Given the description of an element on the screen output the (x, y) to click on. 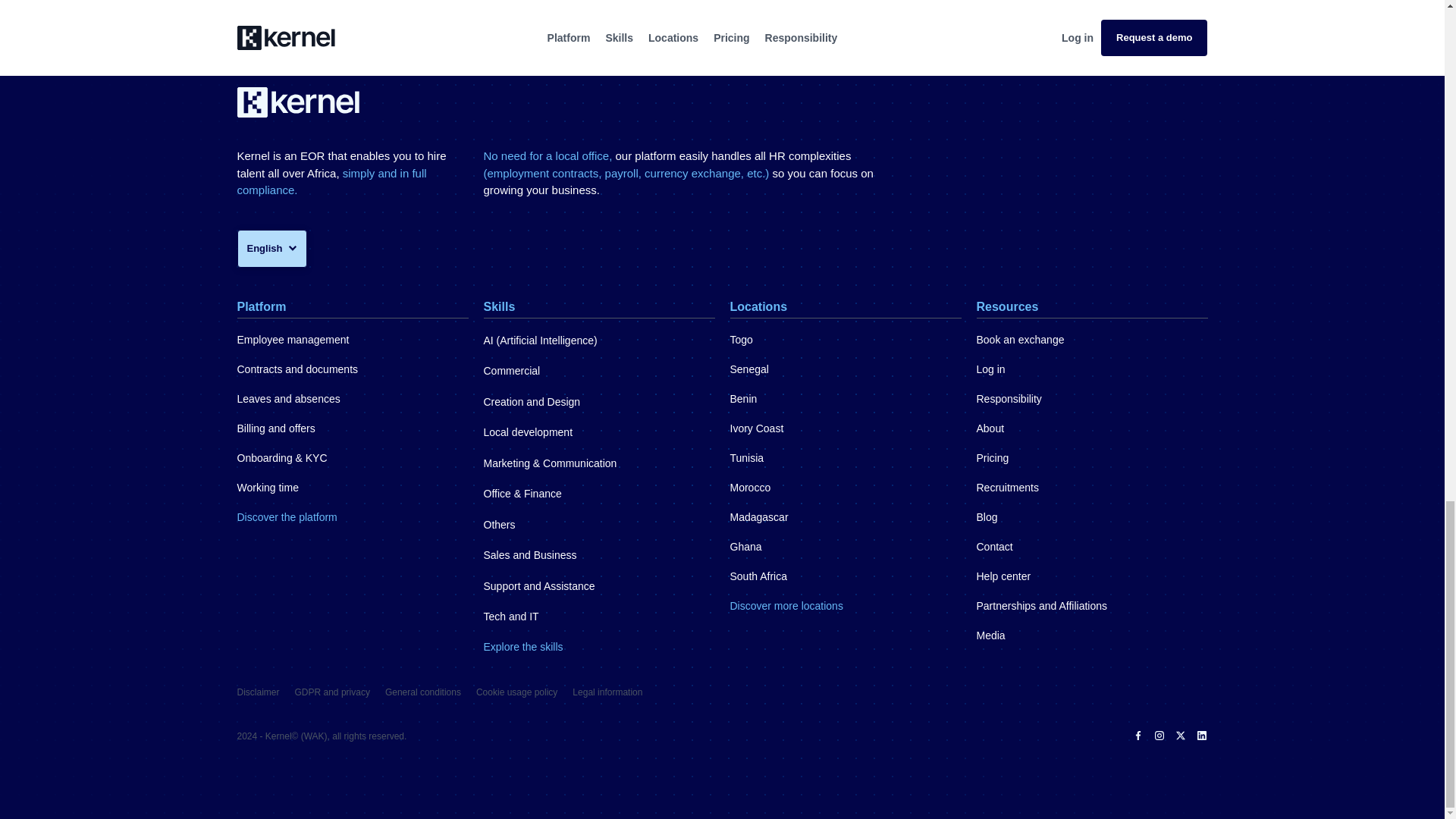
Tech and IT (510, 616)
Senegal (748, 369)
Leaves and absences (287, 399)
Billing and offers (274, 428)
Explore the skills (523, 647)
Togo (740, 340)
Sales and Business (529, 554)
Commercial (511, 370)
Others (499, 524)
Creation and Design (531, 401)
Contracts and documents (296, 369)
Support and Assistance (539, 585)
Discover the platform (285, 517)
Working time (266, 487)
Local development (528, 431)
